Given the description of an element on the screen output the (x, y) to click on. 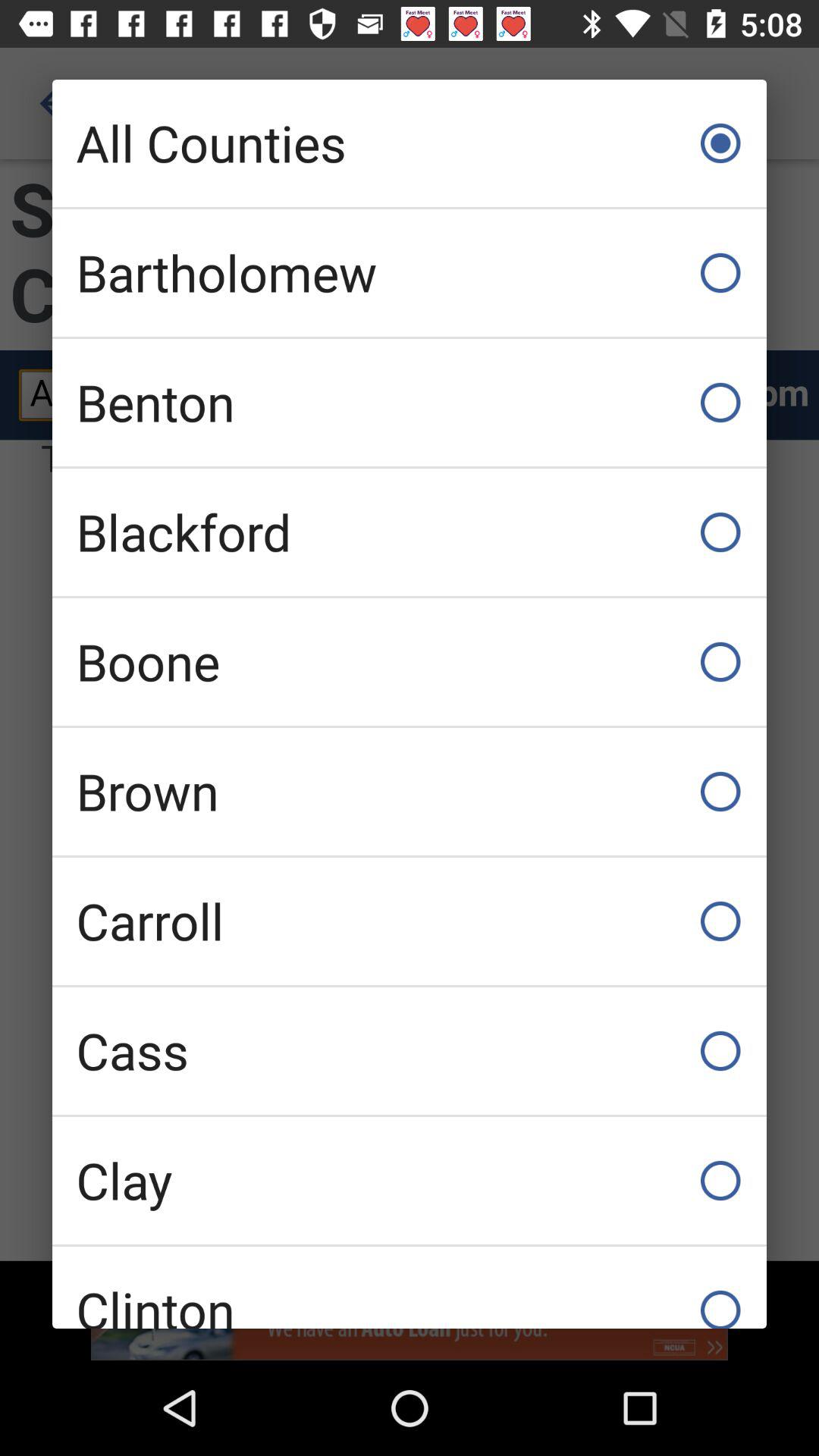
open the blackford item (409, 532)
